Given the description of an element on the screen output the (x, y) to click on. 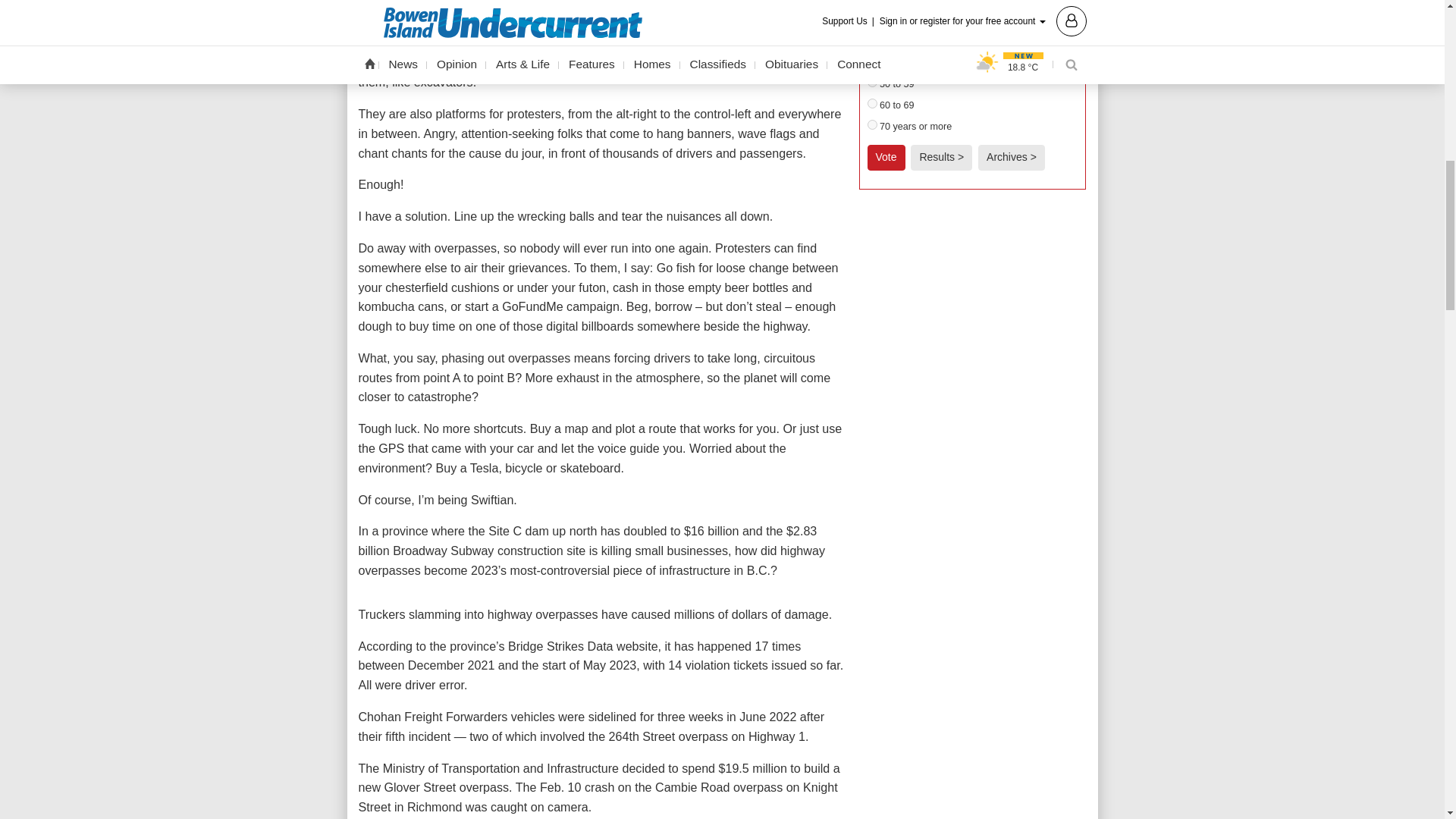
121950 (872, 40)
121949 (872, 18)
121953 (872, 103)
121954 (872, 124)
121951 (872, 61)
121952 (872, 81)
